Given the description of an element on the screen output the (x, y) to click on. 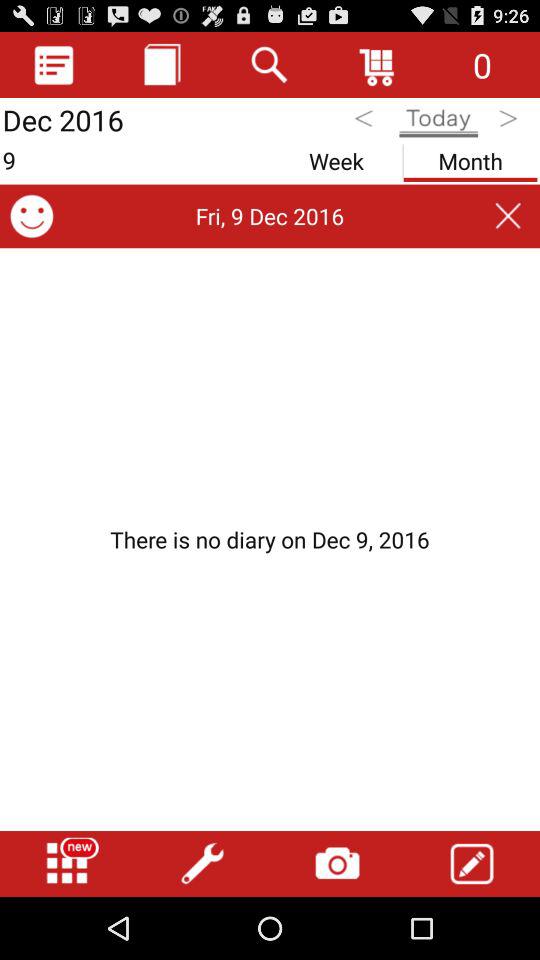
go to previous day (366, 121)
